Given the description of an element on the screen output the (x, y) to click on. 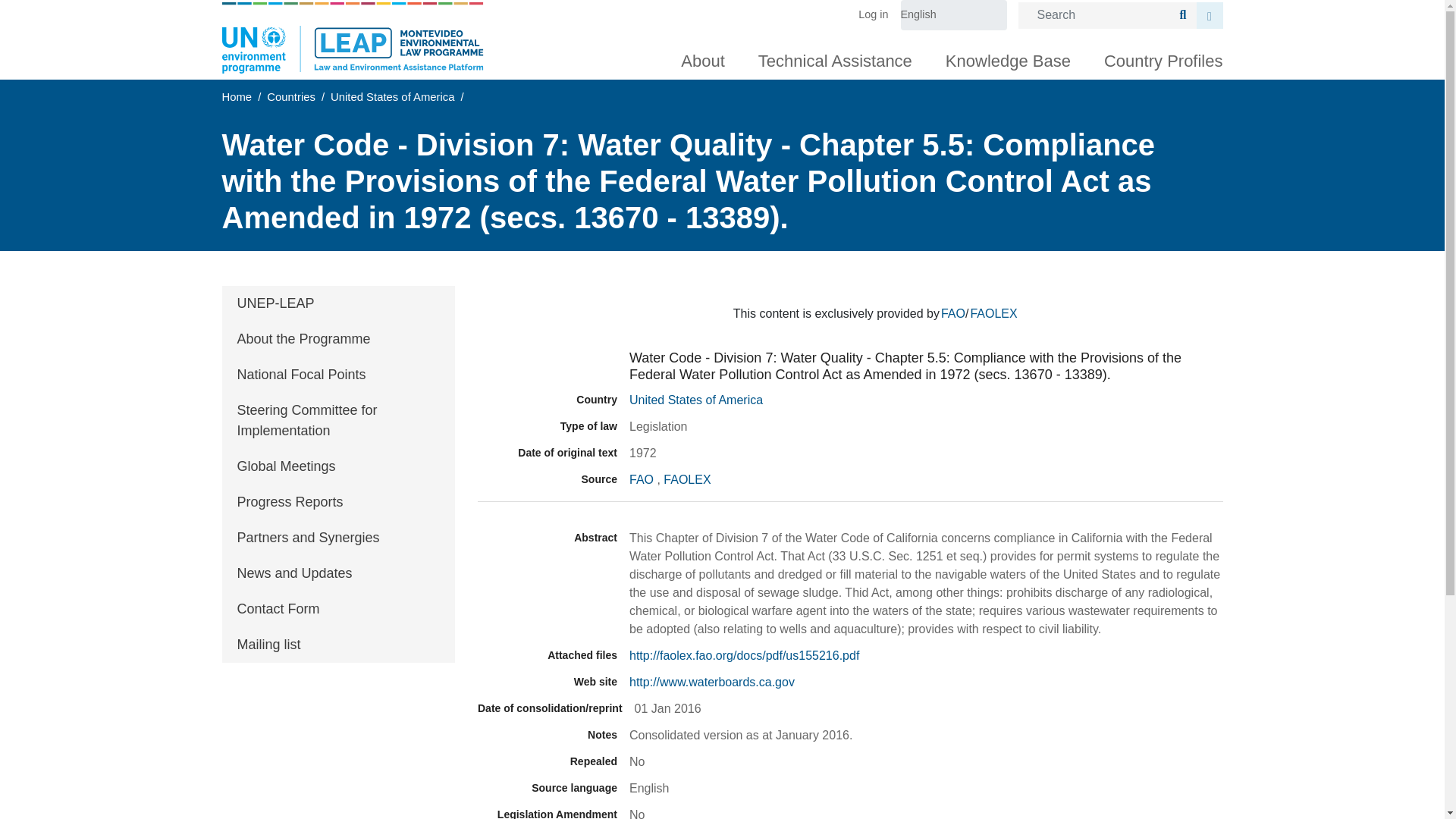
Legislation (547, 366)
About (702, 57)
Skip to main content (721, 1)
Technical Assistance (834, 57)
Log in (879, 14)
Home (352, 37)
Knowledge Base (1007, 57)
